Given the description of an element on the screen output the (x, y) to click on. 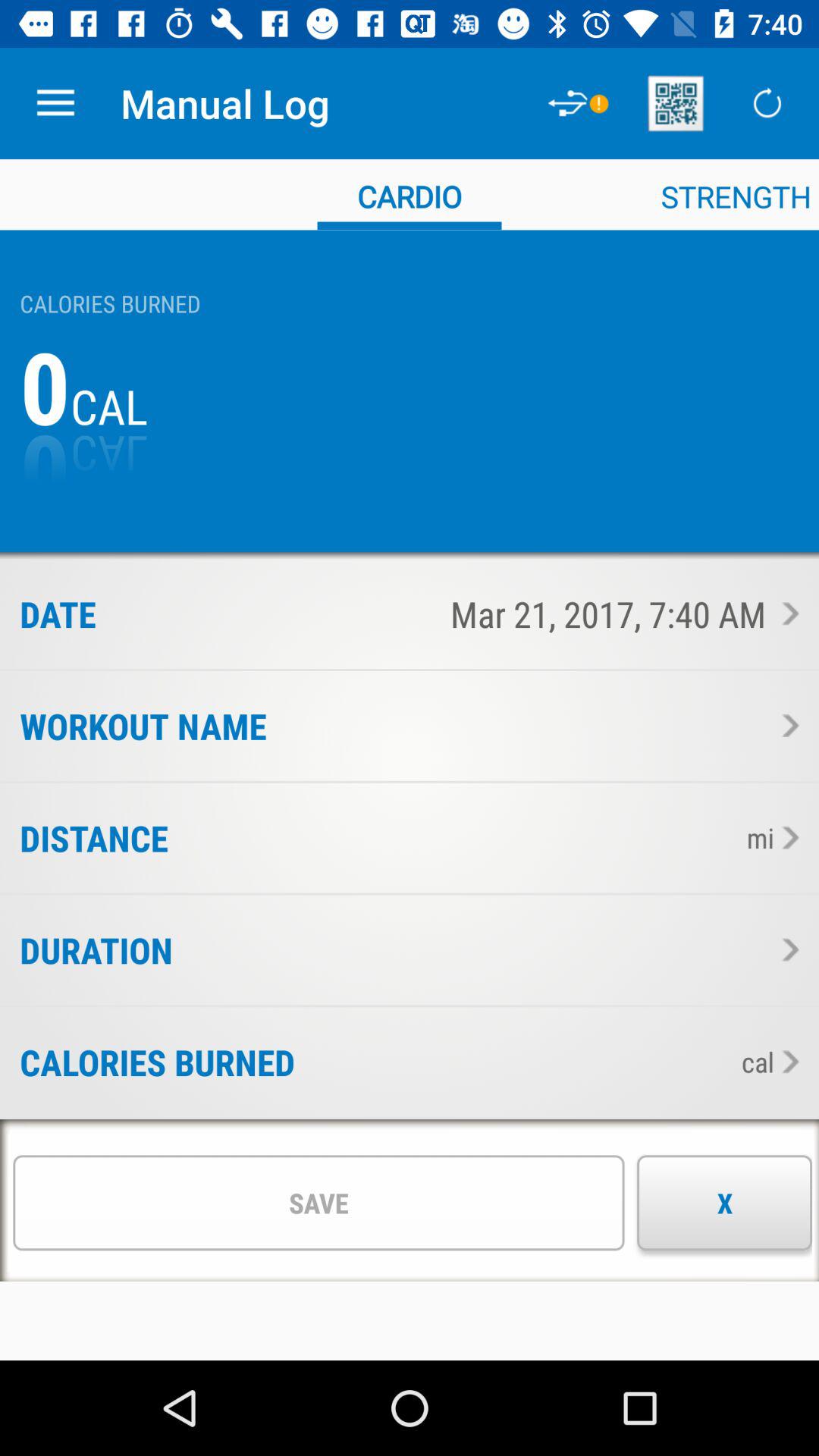
go to this section (786, 949)
